Given the description of an element on the screen output the (x, y) to click on. 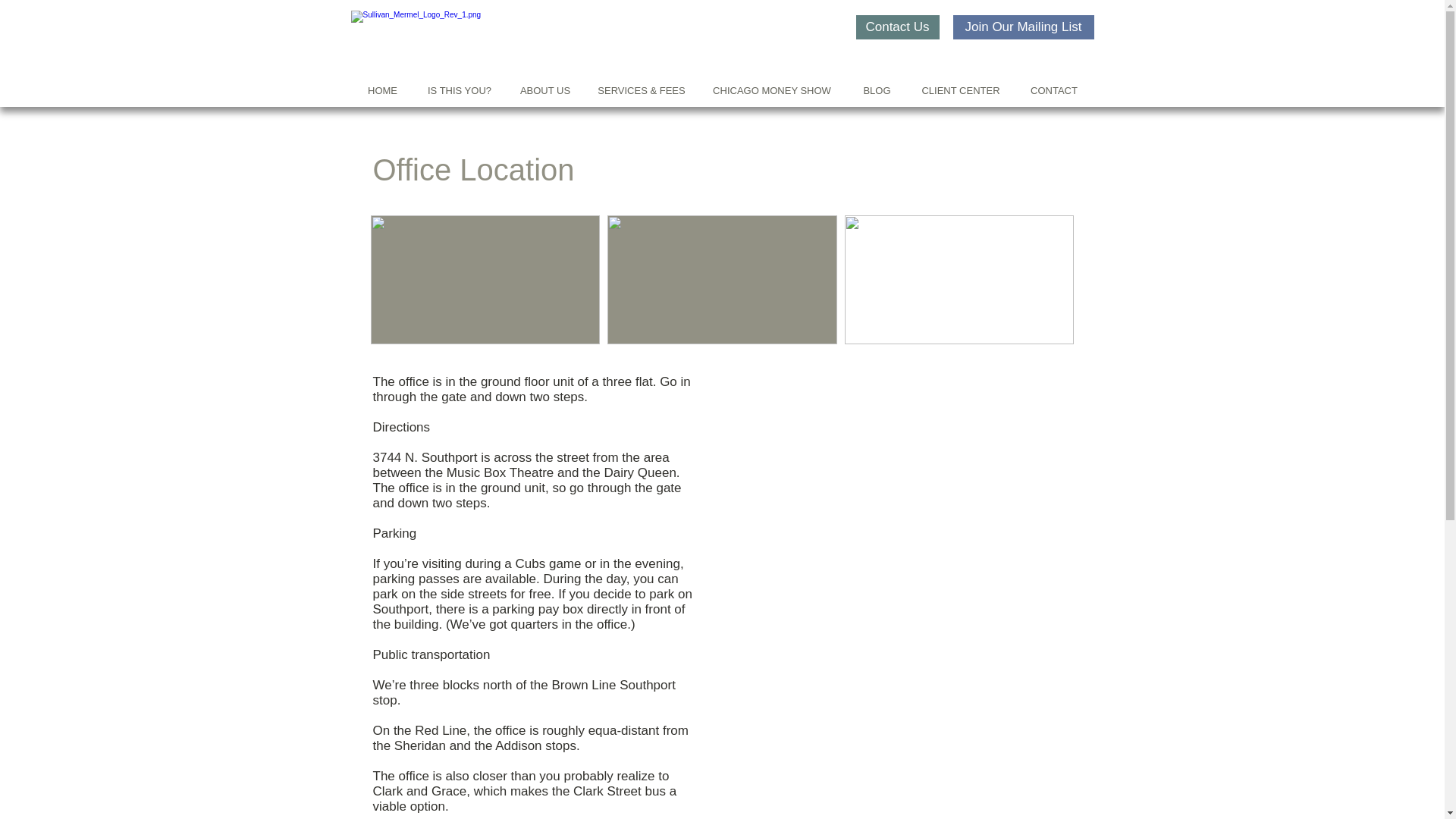
HOME (381, 90)
BLOG (876, 90)
Contact Us (897, 27)
ABOUT US (545, 90)
Join Our Mailing List (1022, 27)
CLIENT CENTER (960, 90)
IS THIS YOU? (458, 90)
CONTACT (1054, 90)
CHICAGO MONEY SHOW (772, 90)
